Given the description of an element on the screen output the (x, y) to click on. 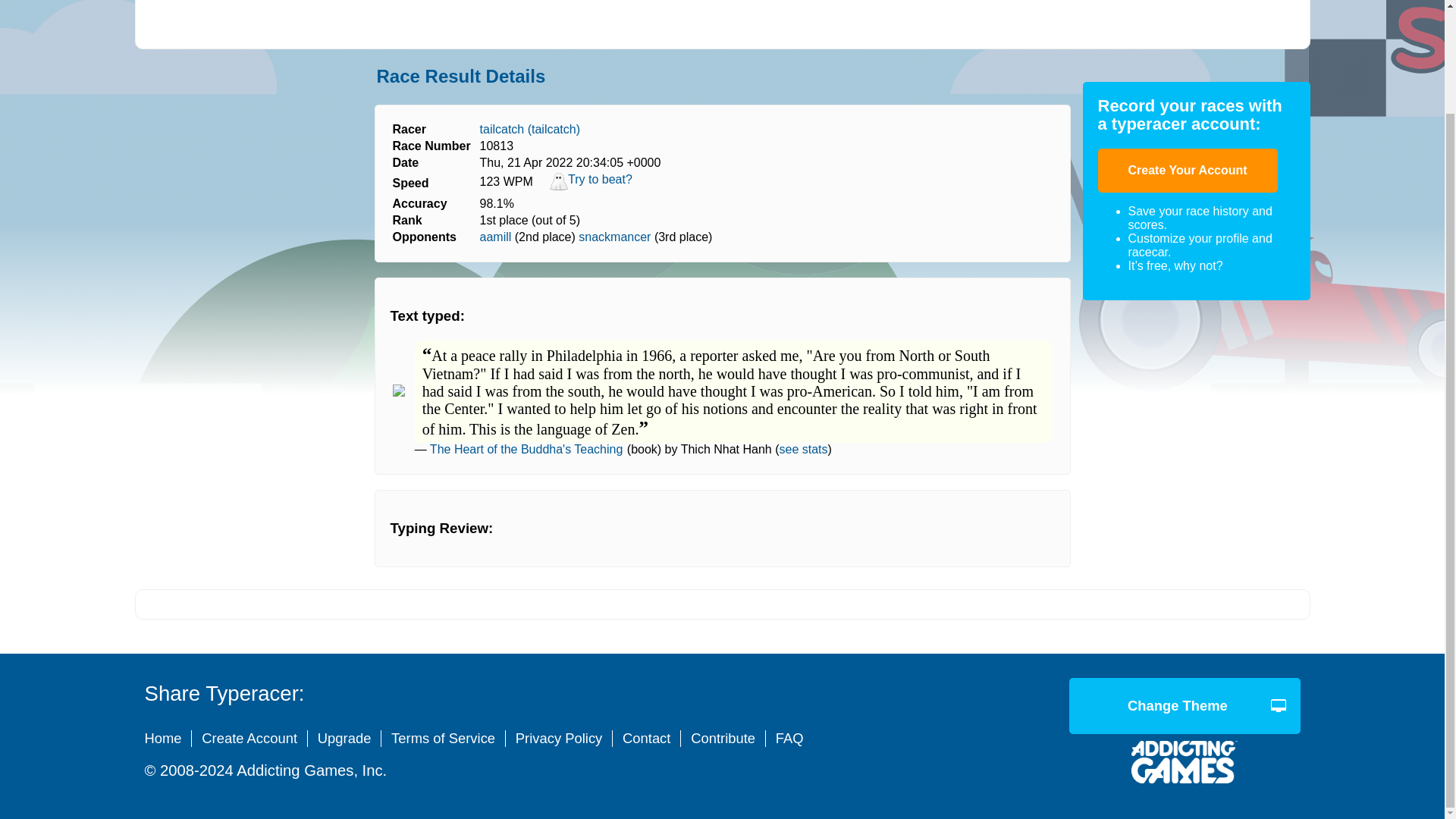
You can try to beat this score in ghost racing mode. (590, 186)
Try to beat? (590, 186)
aamill (496, 236)
see stats (802, 449)
The Heart of the Buddha's Teaching (526, 449)
snackmancer (614, 236)
View tailcatch's profile (530, 128)
Create Your Account (1187, 170)
